Given the description of an element on the screen output the (x, y) to click on. 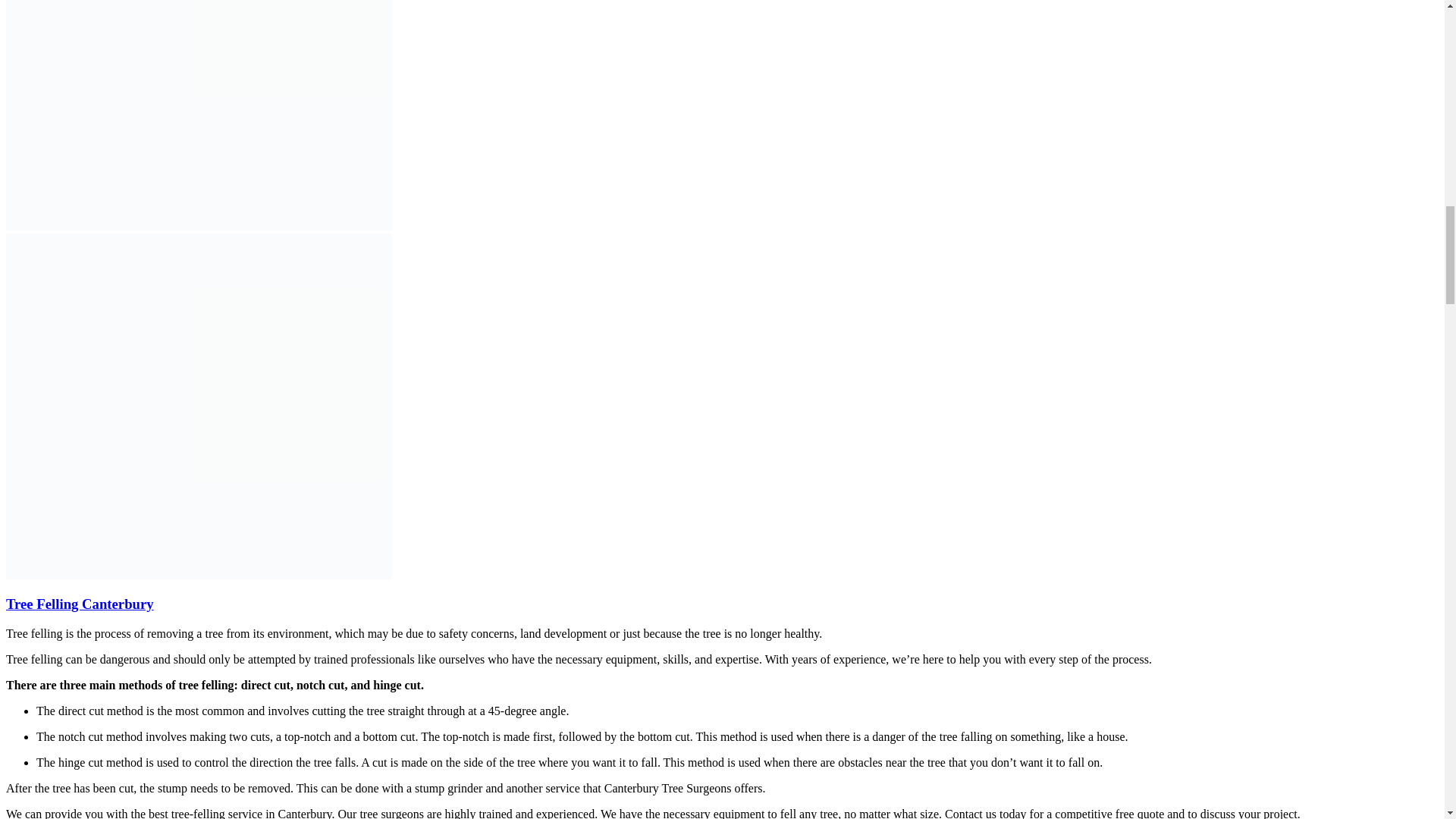
Tree Felling Canterbury (79, 603)
6 (198, 406)
3 (198, 115)
